Given the description of an element on the screen output the (x, y) to click on. 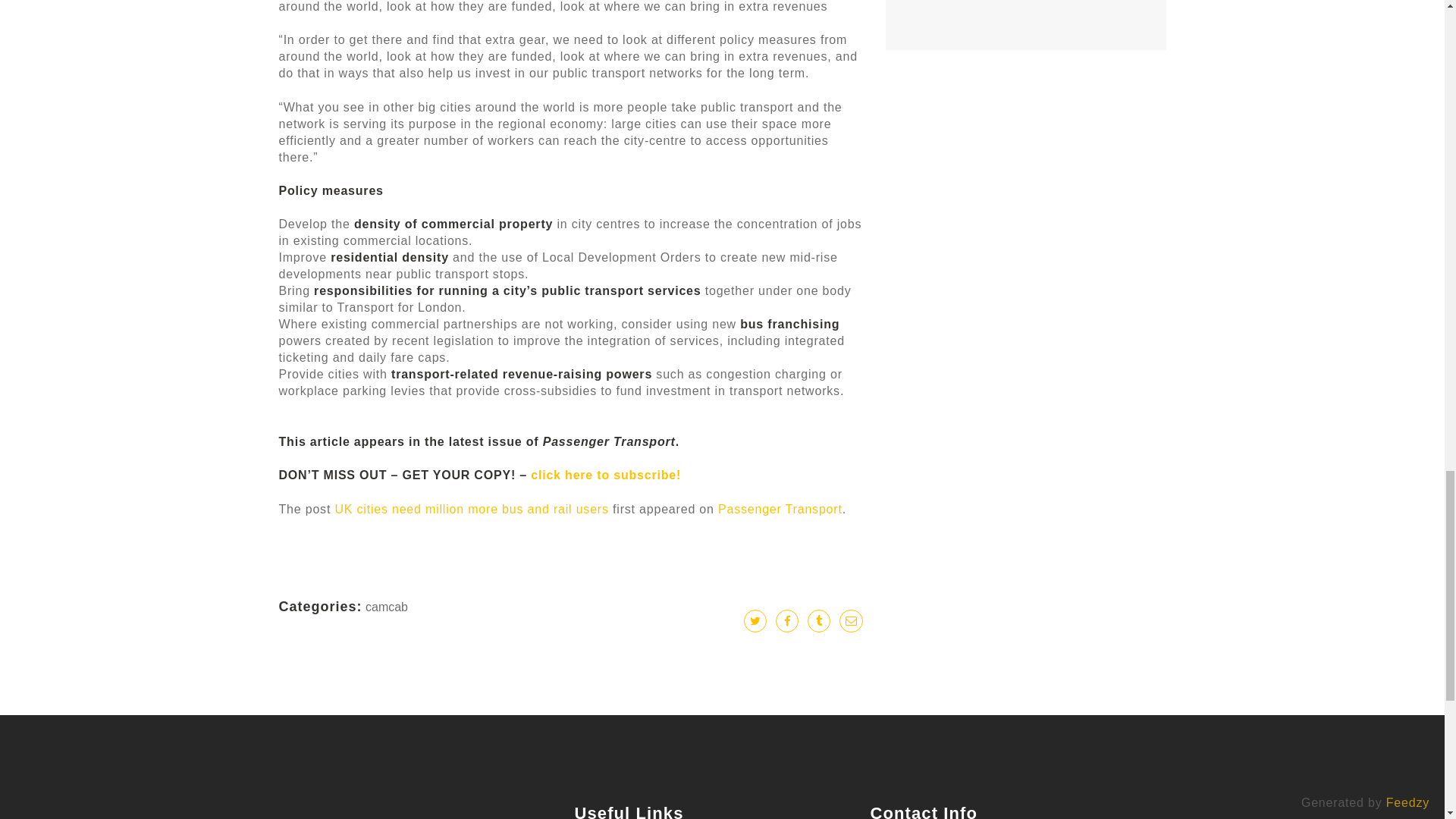
UK cities need million more bus and rail users (471, 508)
Passenger Transport (780, 508)
click here to subscribe! (606, 474)
camcab (386, 606)
